Given the description of an element on the screen output the (x, y) to click on. 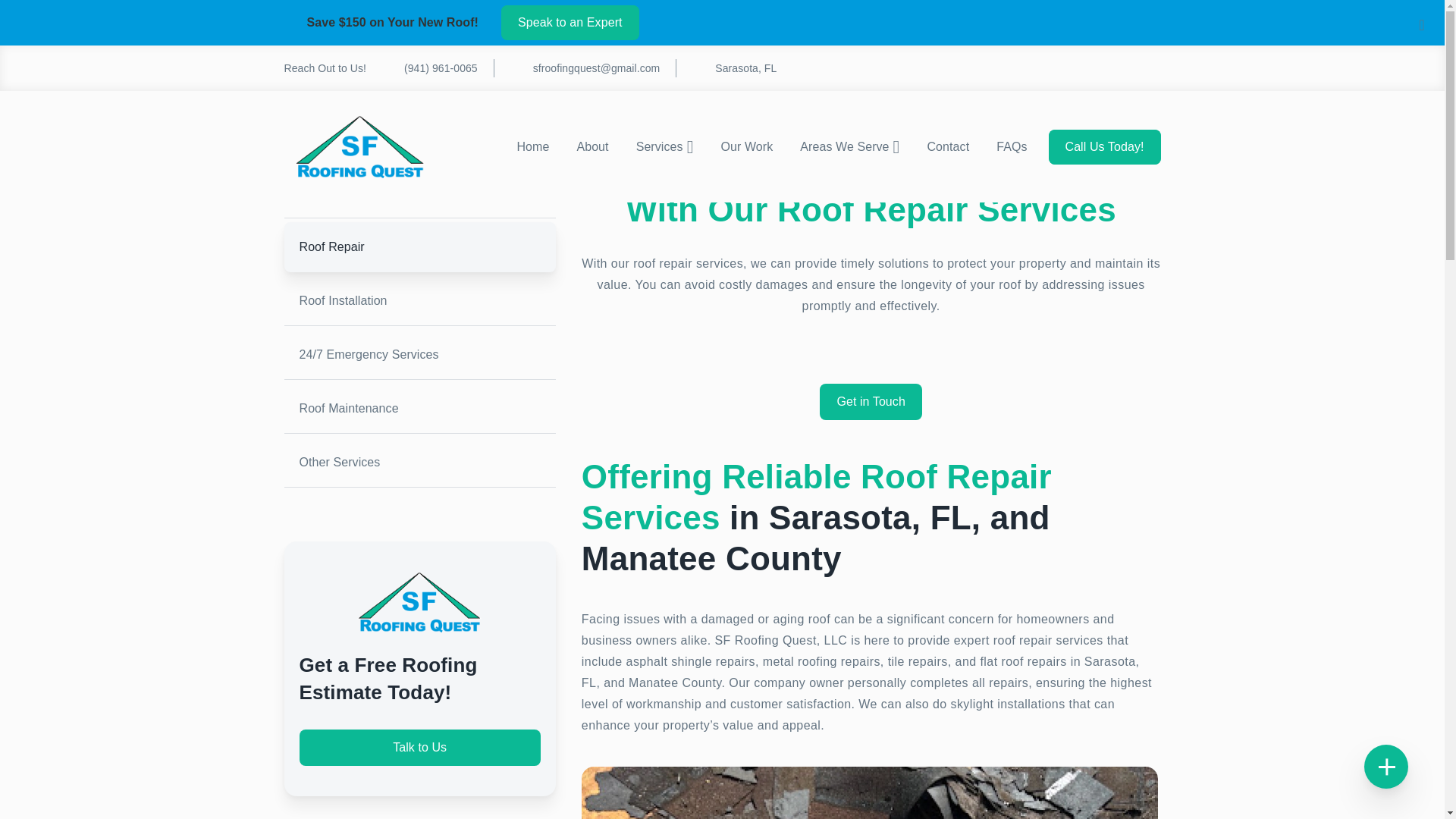
Speak to an Expert (569, 22)
About (591, 146)
Sarasota, FL (725, 67)
Services (665, 146)
FAQs (1011, 146)
Call Us Today! (1104, 146)
Roof Installation (418, 300)
Roof Replacement (418, 193)
Services (357, 28)
Contact (947, 146)
